Given the description of an element on the screen output the (x, y) to click on. 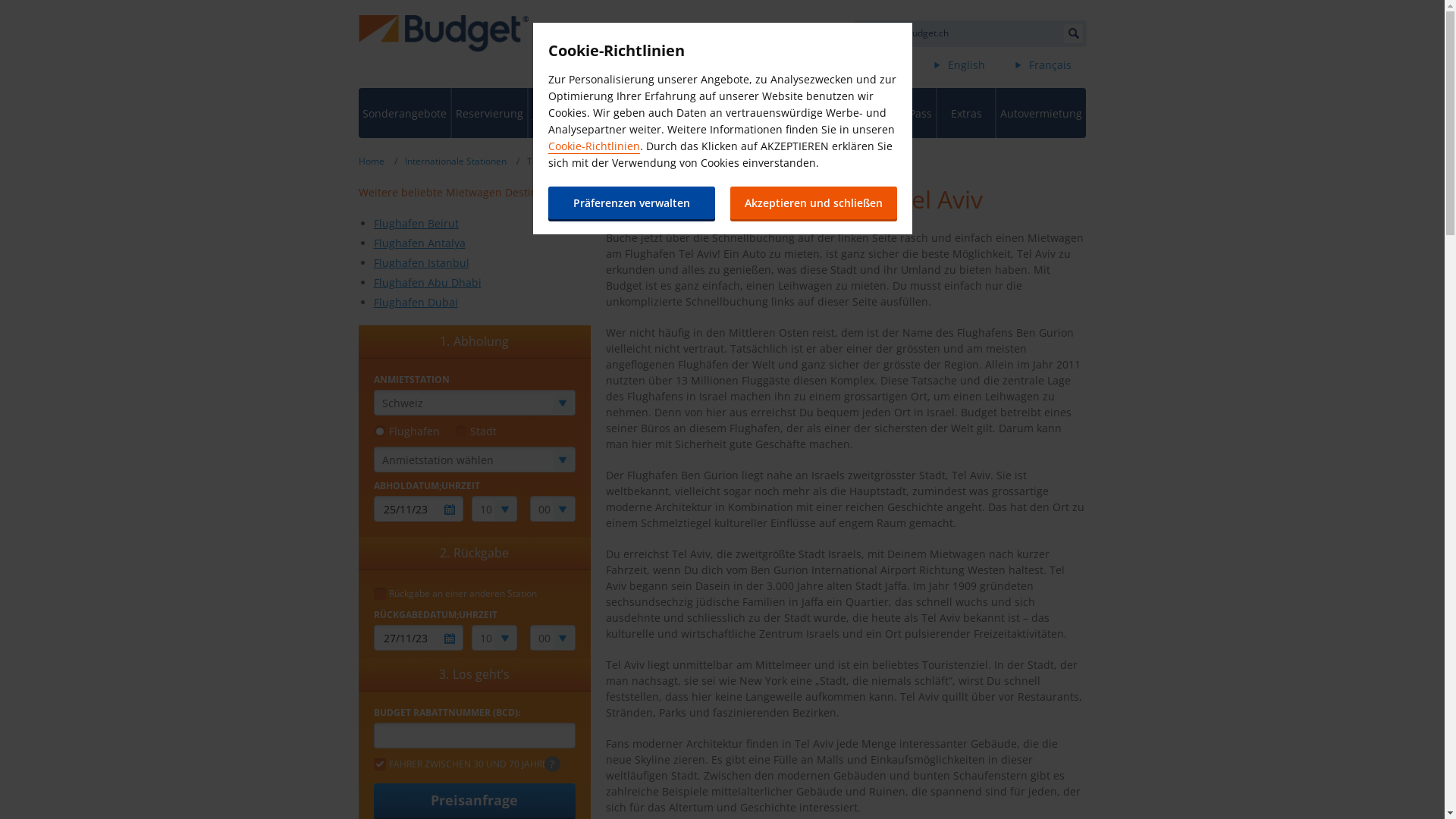
Buchung verwalten Element type: text (556, 112)
Internationale Stationen Element type: text (692, 112)
Flughafen Beirut Element type: text (415, 223)
English Element type: text (966, 64)
Miles & More Element type: text (846, 112)
Extras Element type: text (965, 112)
Cookie-Richtlinien Element type: text (593, 145)
Sonderangebote Element type: text (403, 112)
QuickPass Element type: text (905, 112)
Autovermietung Element type: text (1040, 112)
Flughafen Dubai Element type: text (415, 301)
Flughafen Istanbul Element type: text (420, 262)
Reservierung Element type: text (489, 112)
Suche Element type: hover (1072, 33)
Unsere Mietwagen Element type: text (619, 112)
Flughafen Antalya Element type: text (418, 242)
Firmenkunden Element type: text (774, 112)
Kontakt Element type: text (740, 64)
Internationale Stationen Element type: text (455, 160)
Budget Mietwagen Element type: hover (442, 33)
Home Element type: text (370, 160)
Flughafen Abu Dhabi Element type: text (426, 282)
